Given the description of an element on the screen output the (x, y) to click on. 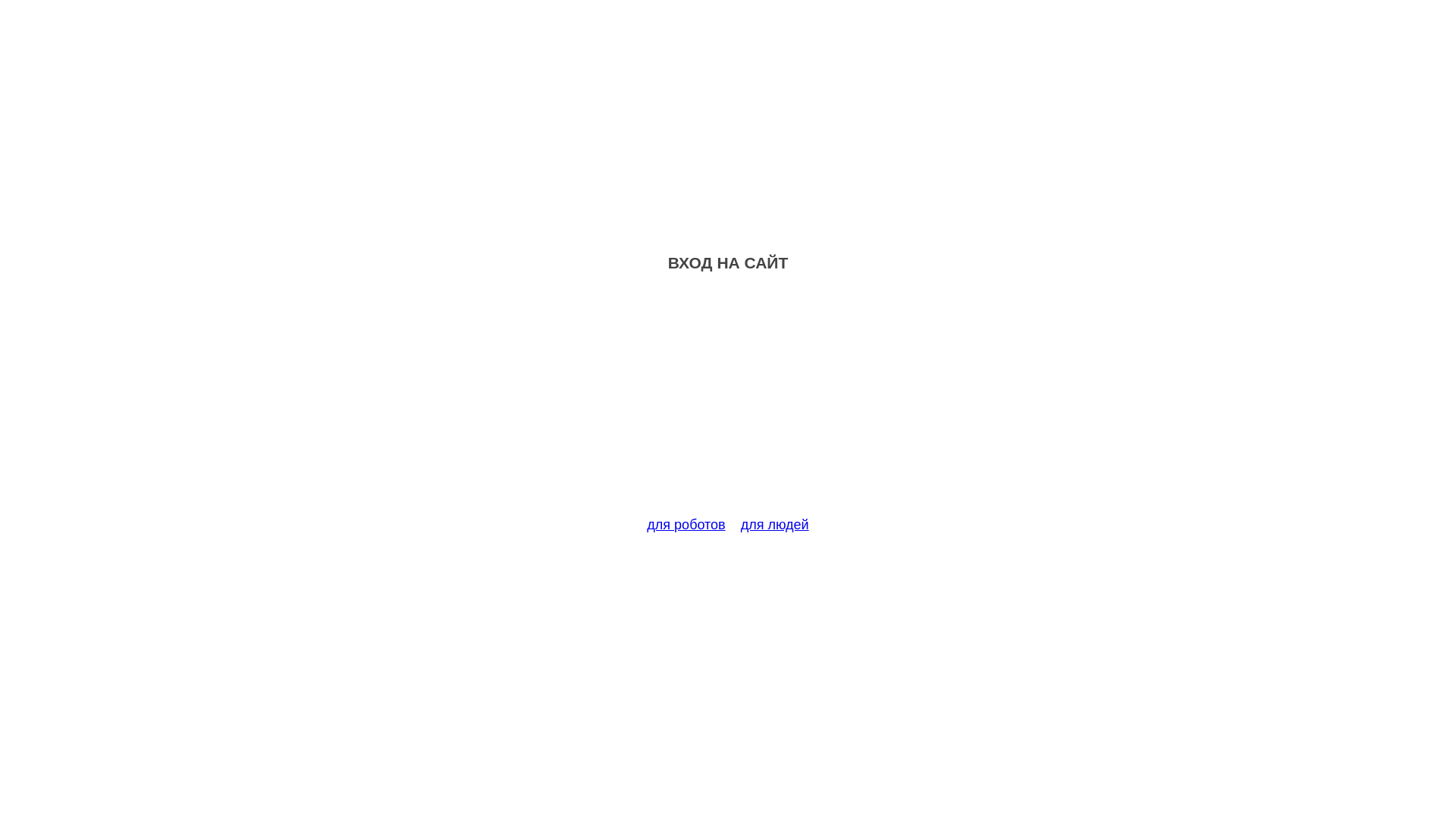
Advertisement Element type: hover (727, 403)
